Given the description of an element on the screen output the (x, y) to click on. 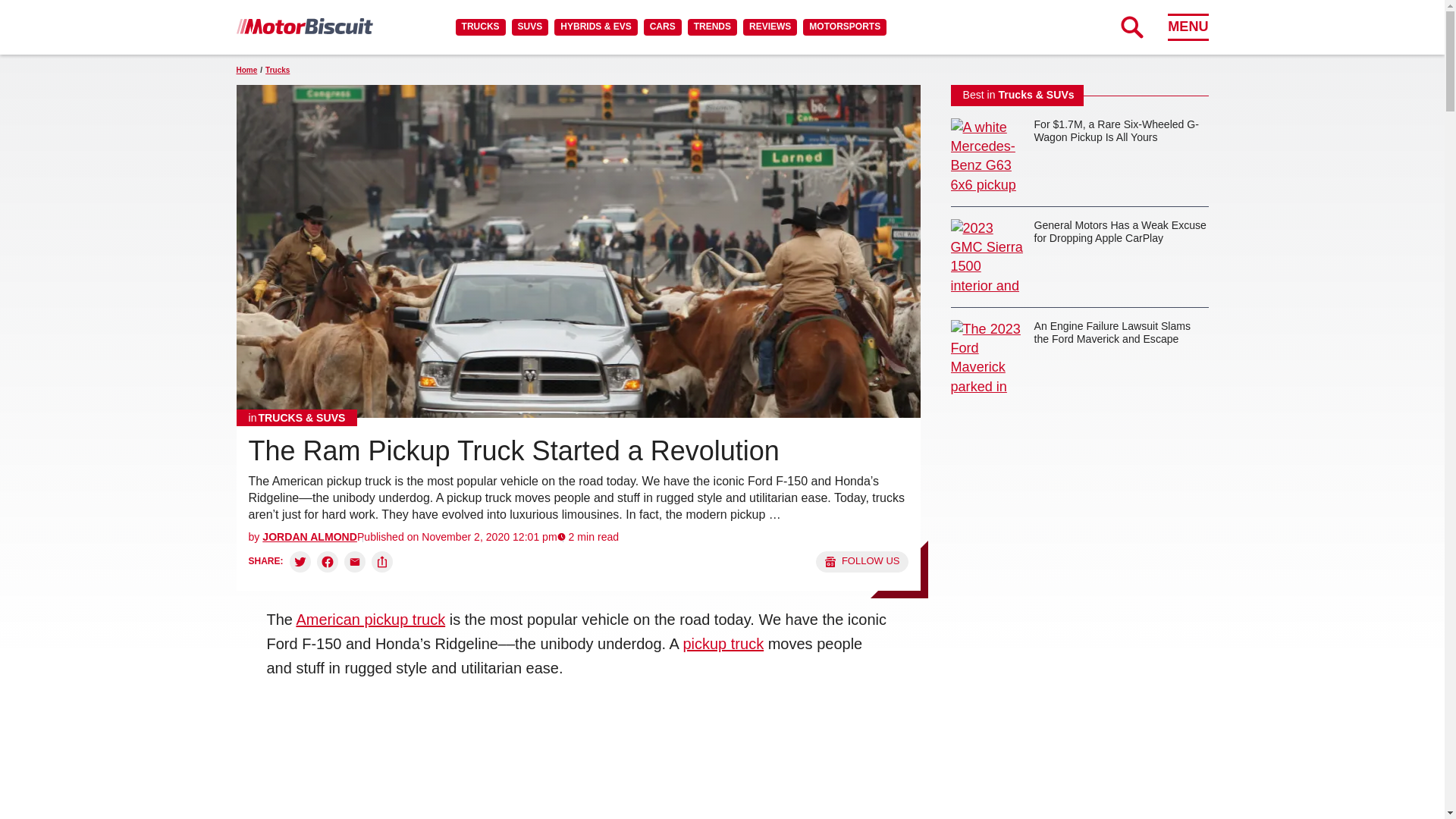
SUVS (530, 26)
TRENDS (711, 26)
REVIEWS (769, 26)
TRUCKS (480, 26)
Expand Search (1131, 26)
MOTORSPORTS (844, 26)
Copy link and share:  (382, 561)
MotorBiscuit (303, 26)
CARS (662, 26)
